Given the description of an element on the screen output the (x, y) to click on. 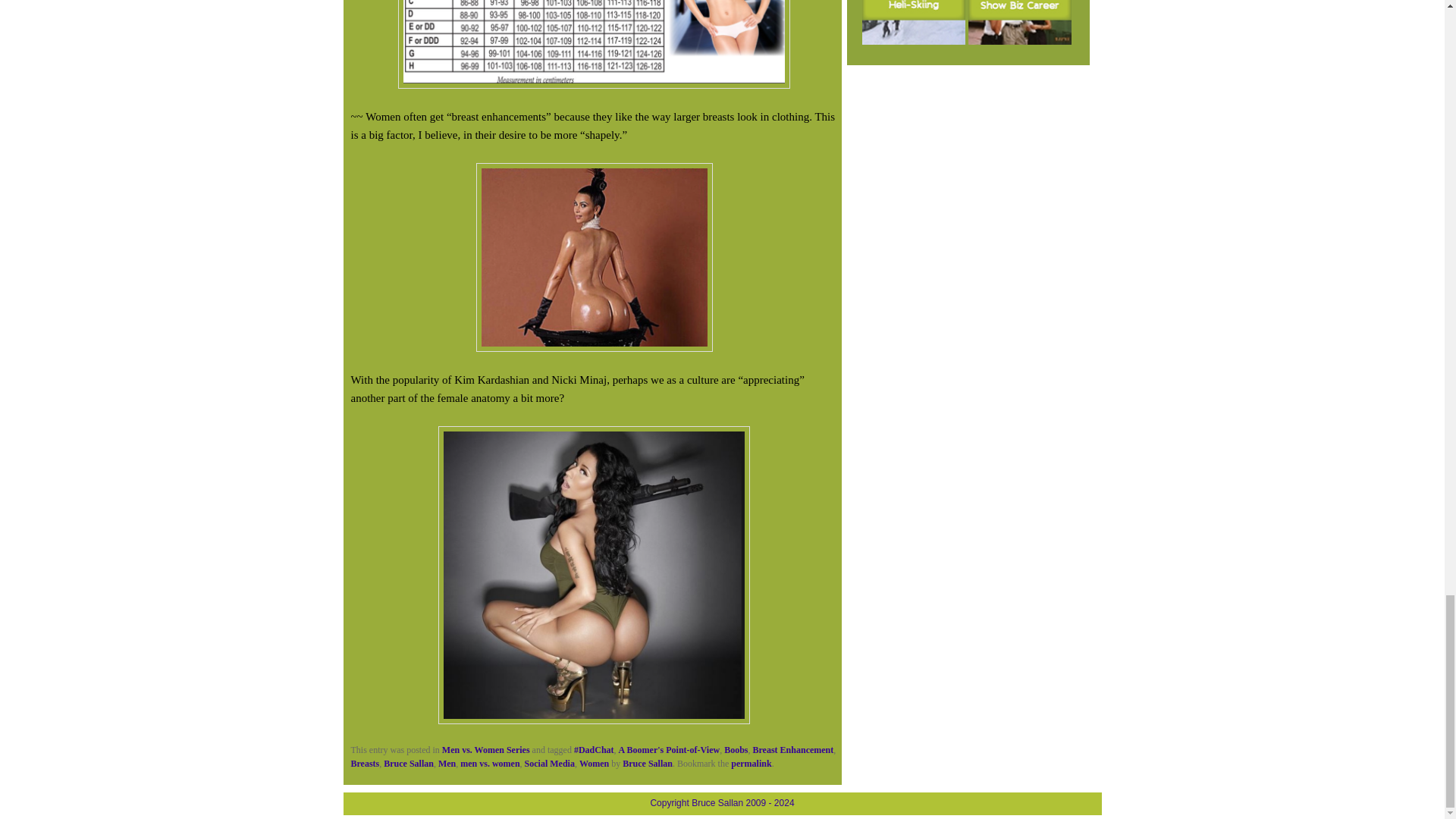
Breasts (364, 763)
Breast Enhancement (792, 749)
Bruce Sallan (408, 763)
A Boomer's Point-of-View (669, 749)
Men (446, 763)
Women (593, 763)
Men vs. Women Series (485, 749)
Social Media (549, 763)
men vs. women (489, 763)
Boobs (735, 749)
